Given the description of an element on the screen output the (x, y) to click on. 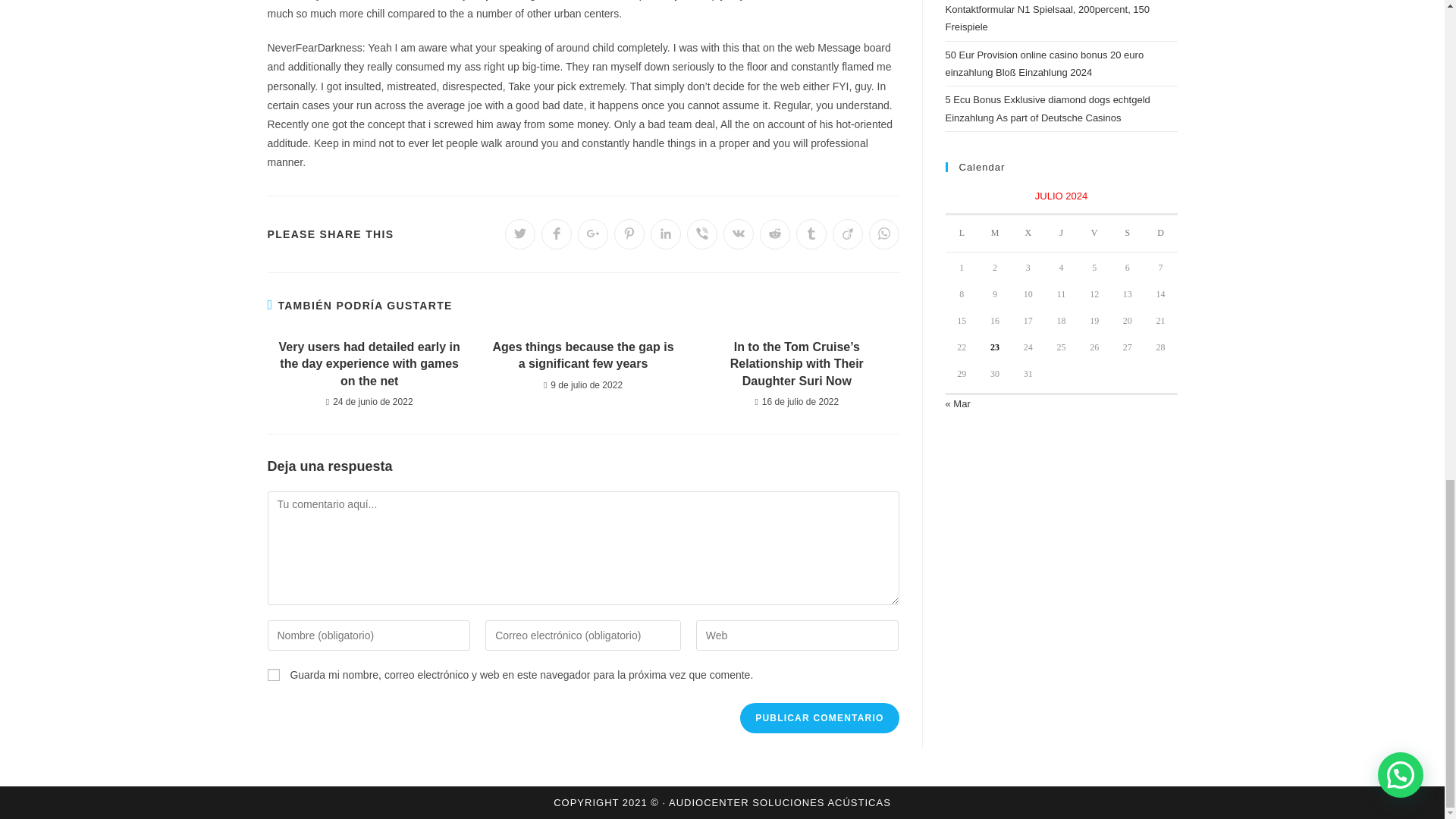
viernes (1093, 233)
lunes (961, 233)
Publicar comentario (818, 717)
domingo (1160, 233)
Publicar comentario (818, 717)
martes (994, 233)
Ages things because the gap is a significant few years (582, 356)
yes (272, 674)
Ages things because the gap is a significant few years (582, 356)
jueves (1061, 233)
